Given the description of an element on the screen output the (x, y) to click on. 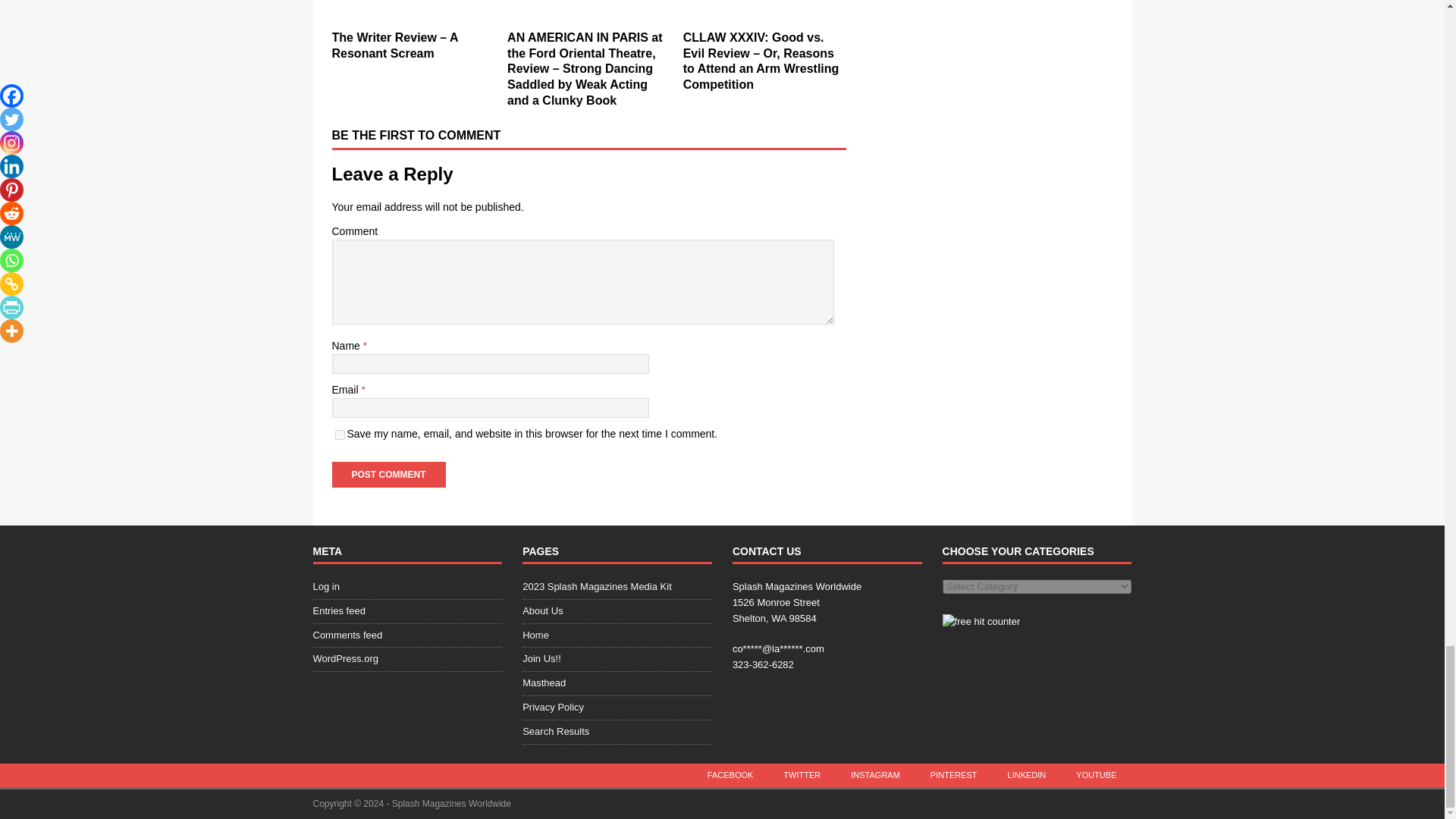
yes (339, 434)
Post Comment (388, 474)
